Given the description of an element on the screen output the (x, y) to click on. 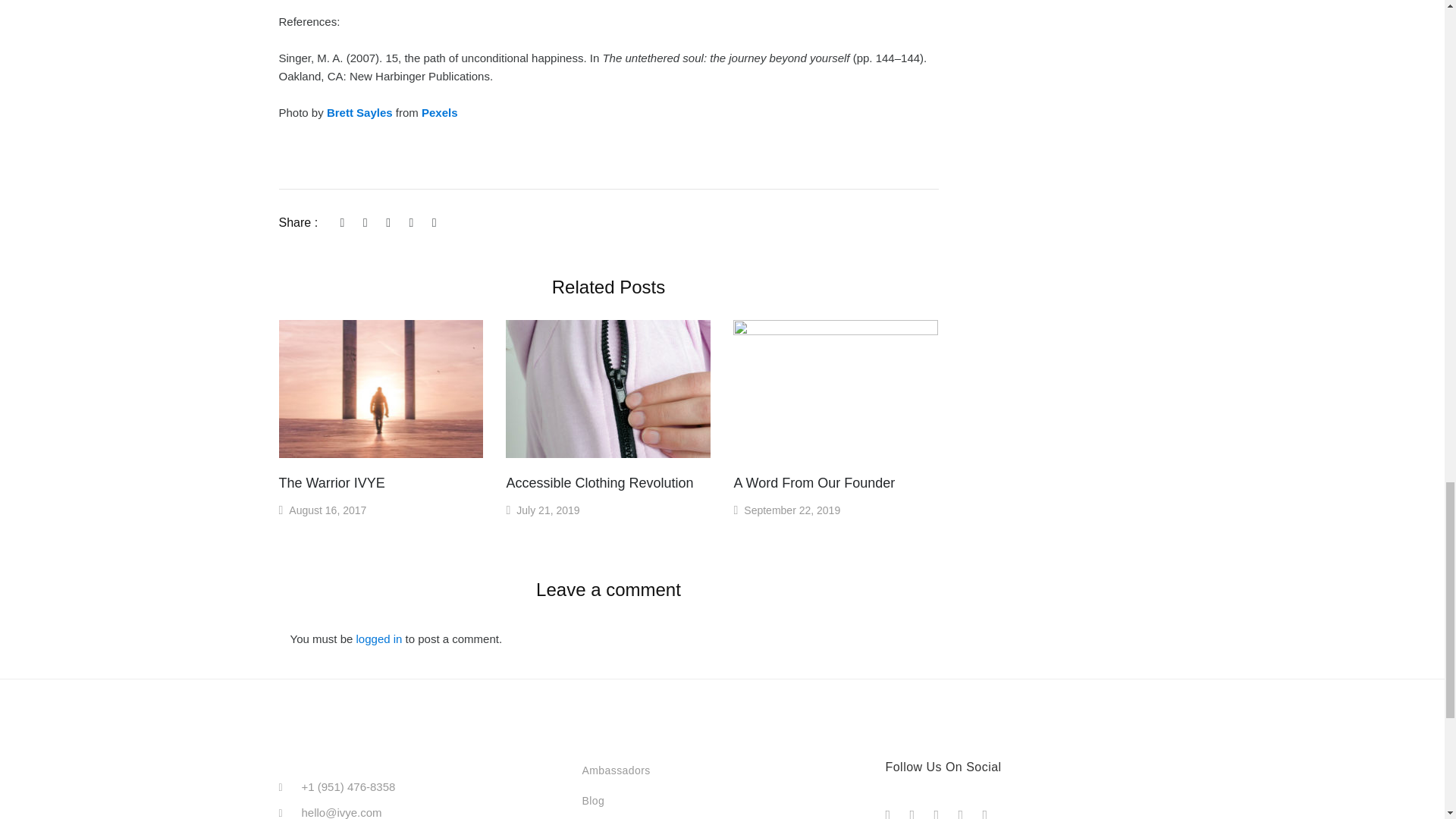
my Ivye account (610, 817)
The Warrior IVYE (332, 482)
IVYE Wear Ambasadors (614, 770)
July 21, 2019 (547, 510)
Accessible Clothing Revolution (599, 482)
August 16, 2017 (327, 510)
A Word From Our Founder (814, 482)
Pexels (440, 112)
Brett Sayles  (361, 112)
logged in (379, 638)
